Given the description of an element on the screen output the (x, y) to click on. 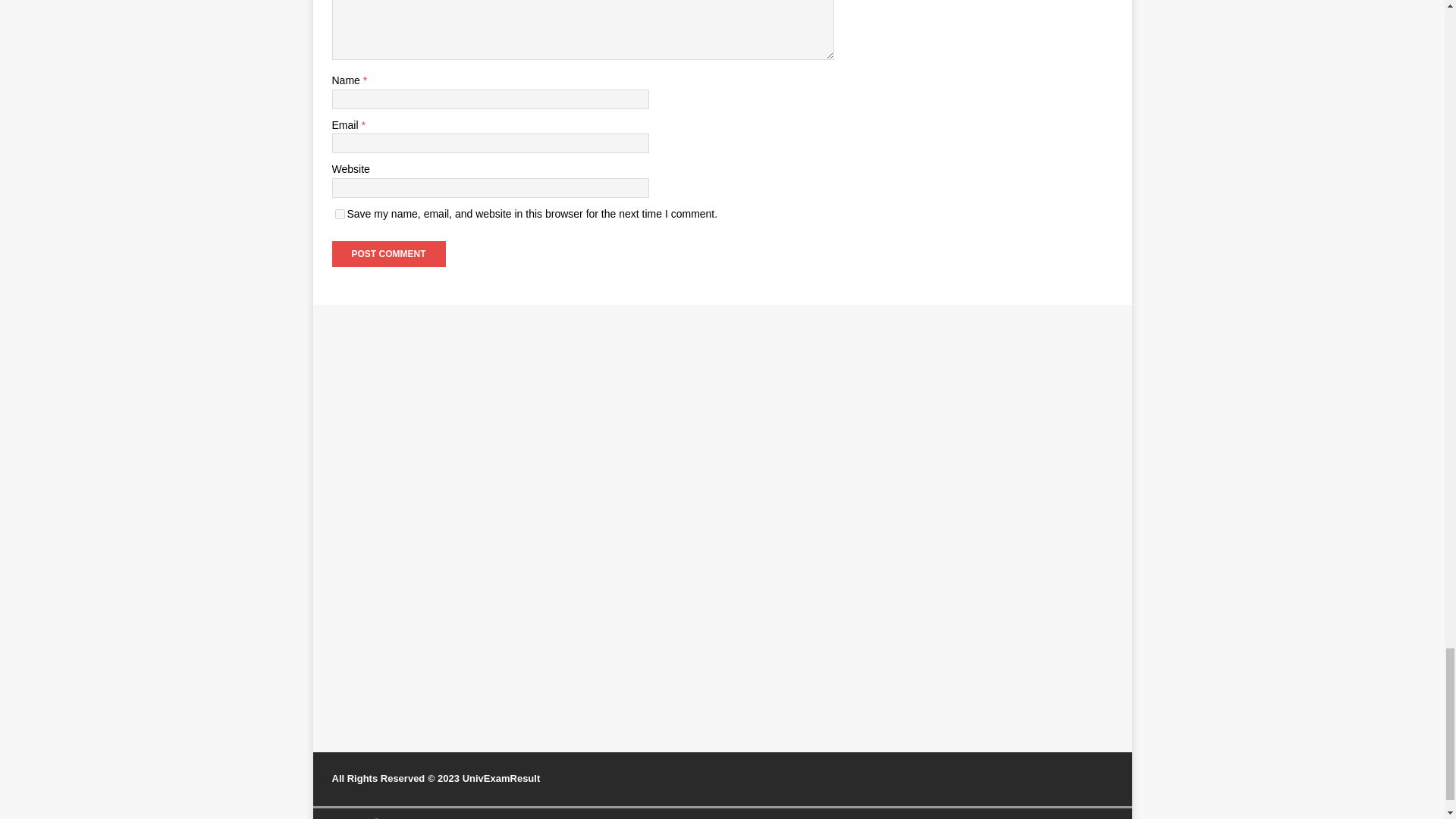
yes (339, 214)
Post Comment (388, 253)
Post Comment (388, 253)
